Given the description of an element on the screen output the (x, y) to click on. 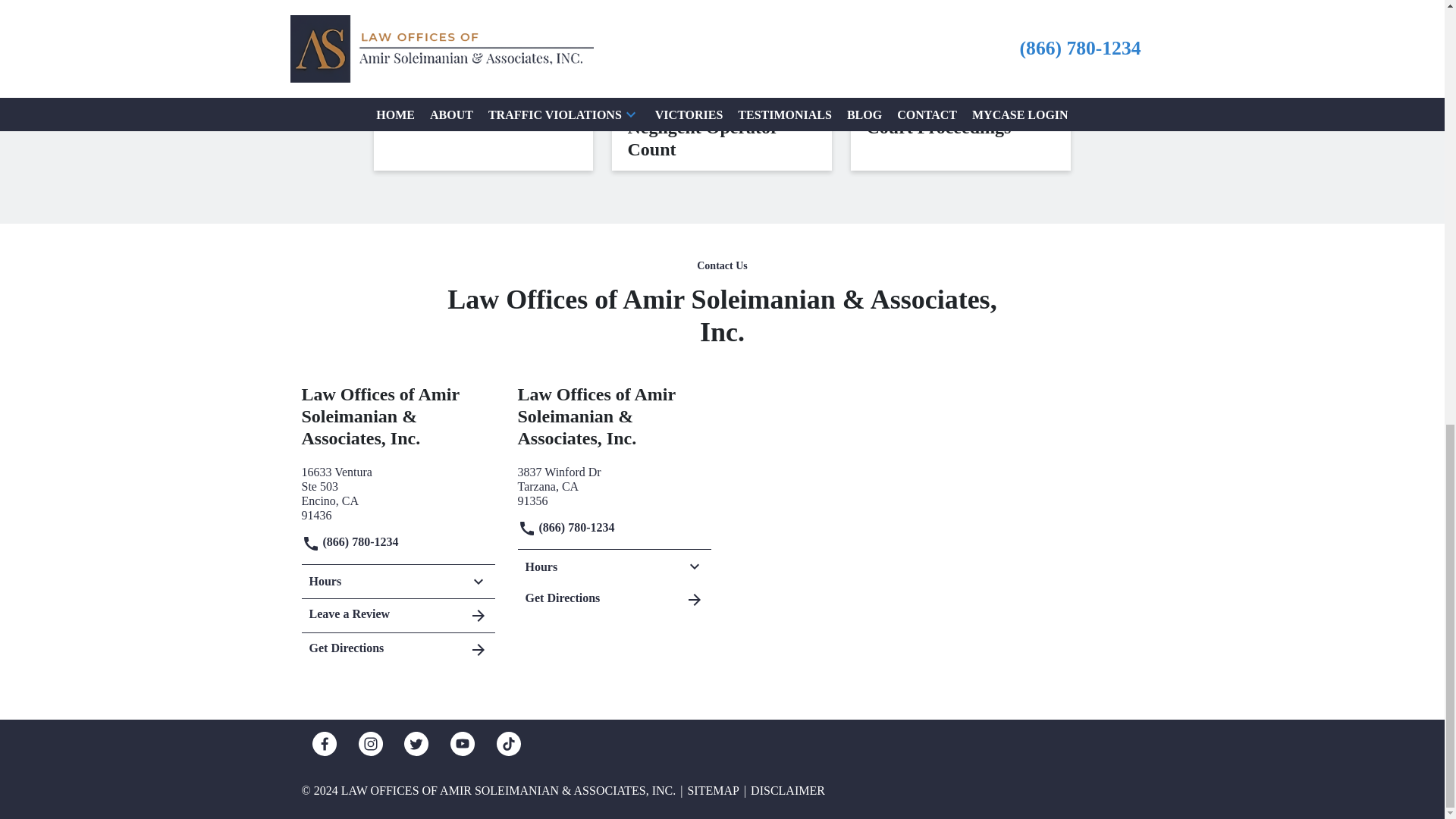
Leave a Review (398, 615)
Get Directions (398, 646)
Hours (398, 581)
